Given the description of an element on the screen output the (x, y) to click on. 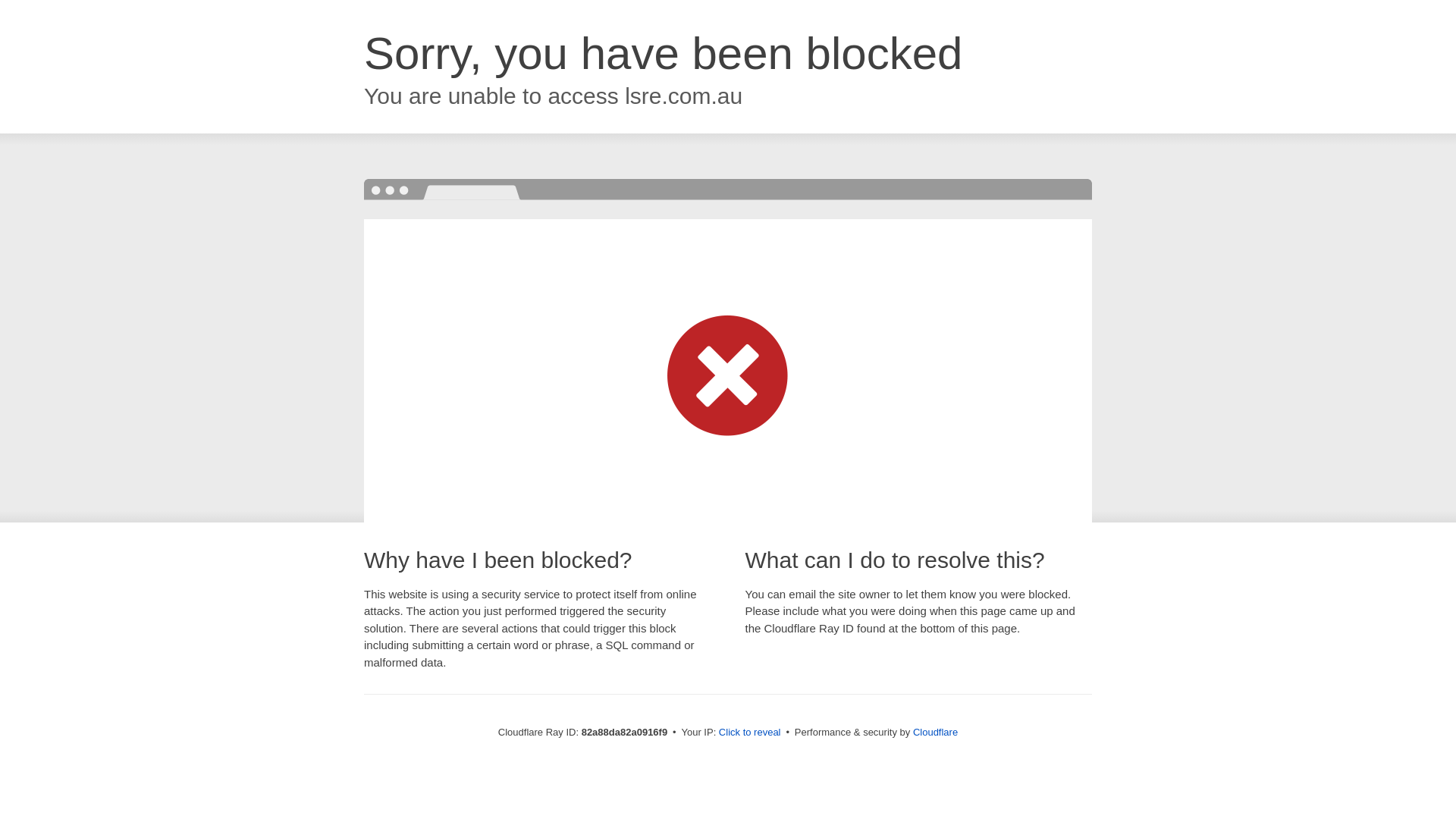
Cloudflare Element type: text (935, 731)
Click to reveal Element type: text (749, 732)
